Given the description of an element on the screen output the (x, y) to click on. 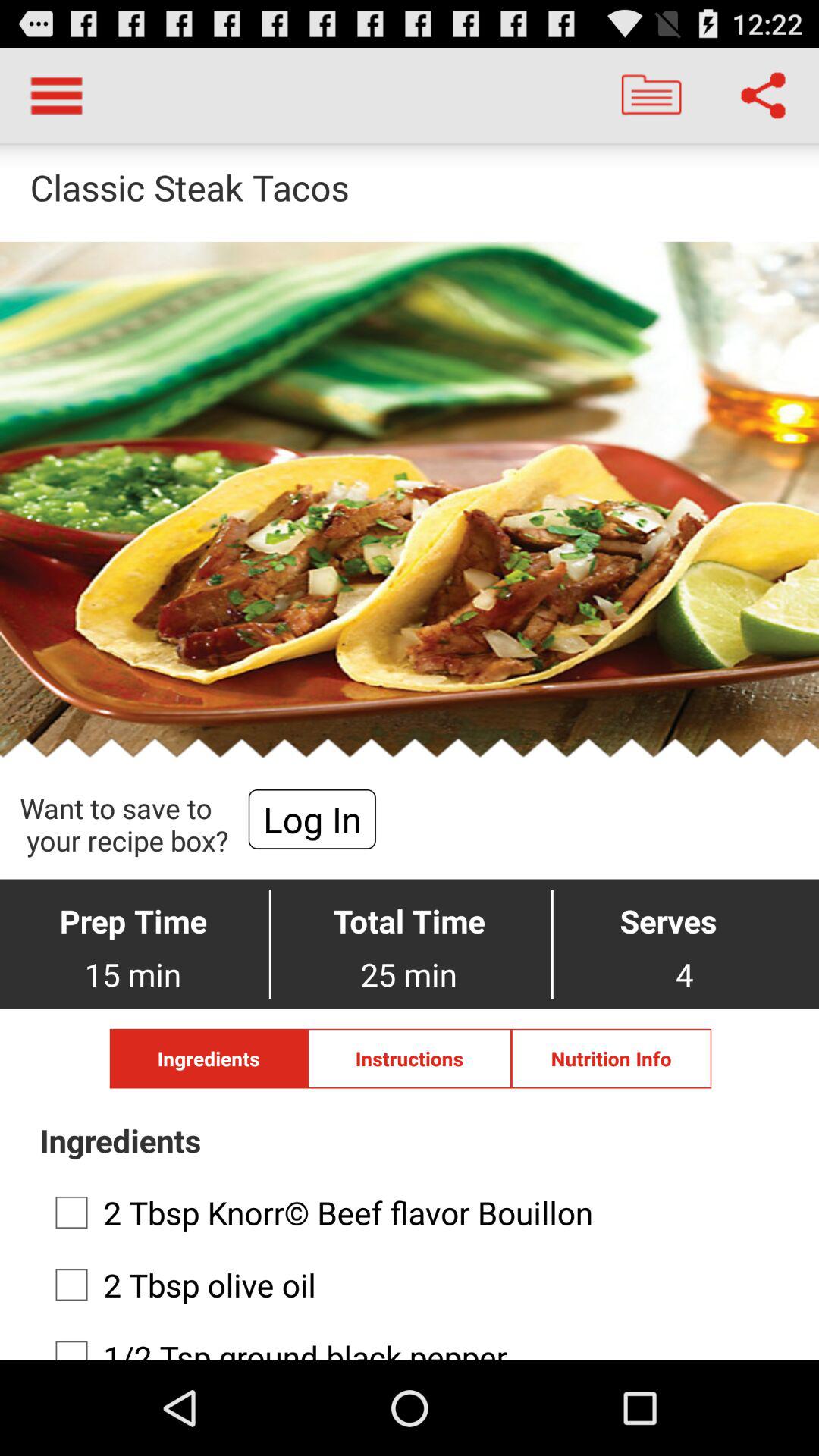
launch the button to the right of instructions (611, 1058)
